Given the description of an element on the screen output the (x, y) to click on. 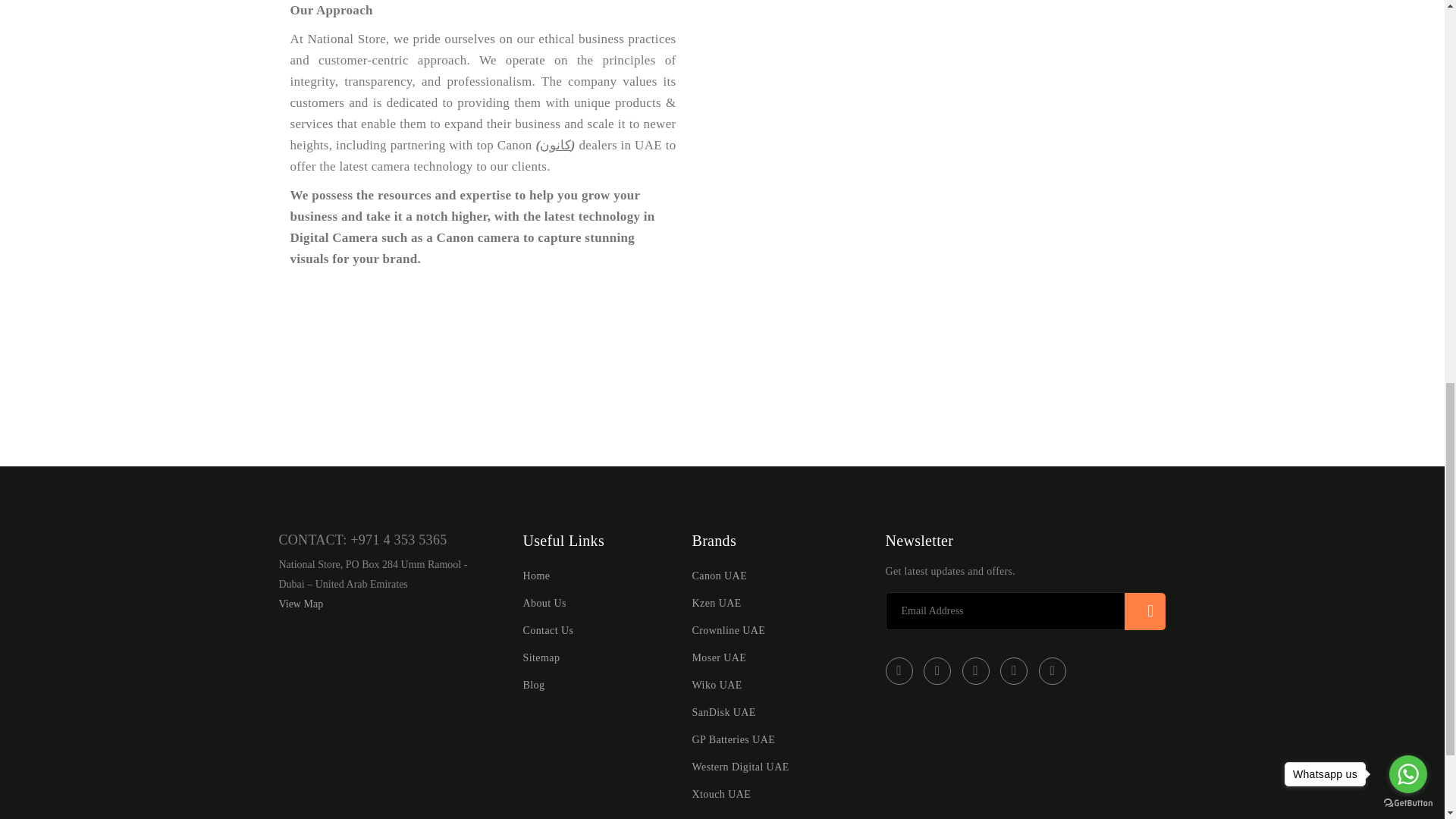
Subscribe (1145, 610)
